Given the description of an element on the screen output the (x, y) to click on. 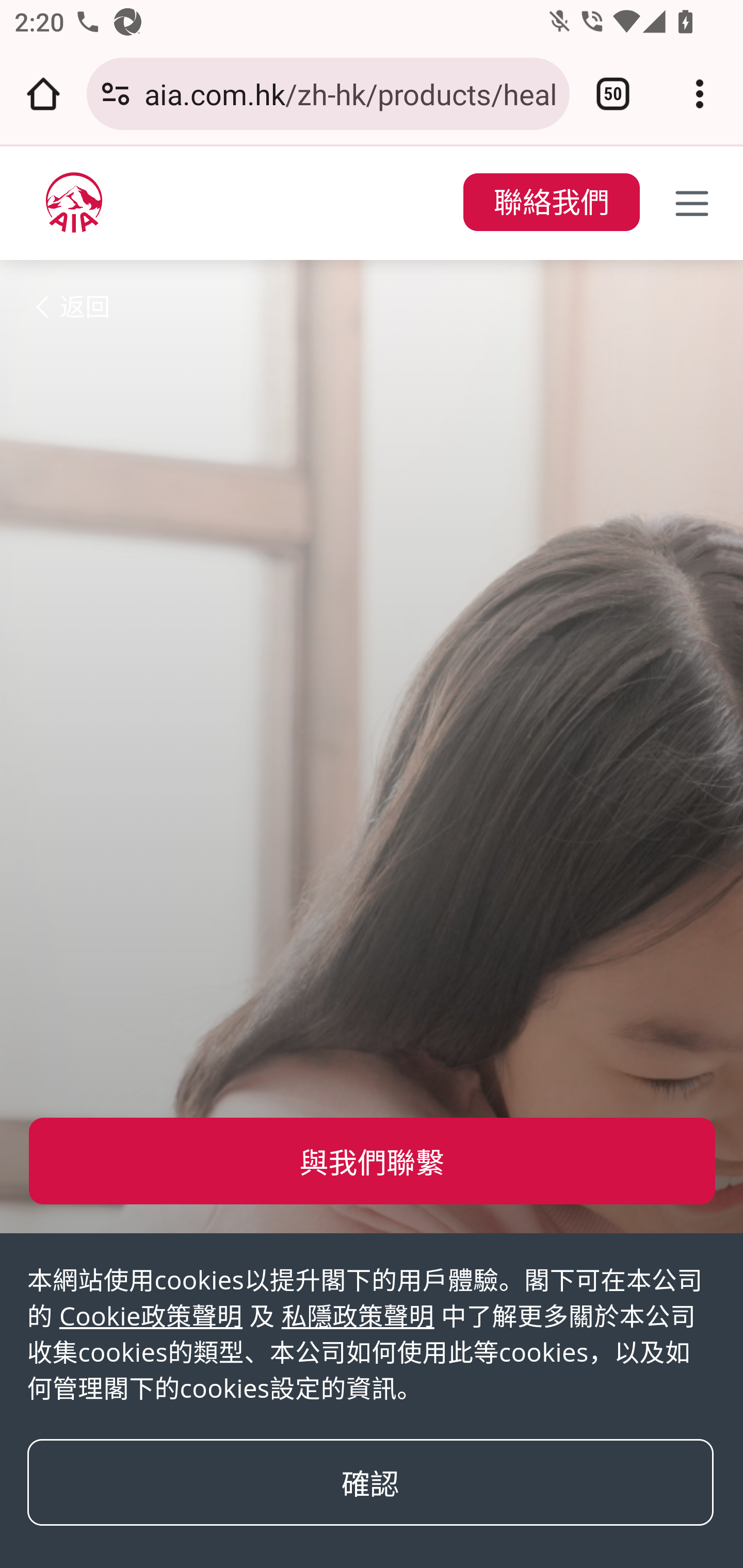
Open the home page (43, 93)
Connection is secure (115, 93)
Switch or close tabs (612, 93)
Customize and control Google Chrome (699, 93)
zh-hk (73, 202)
聯絡我們 (551, 203)
Toggle navigation (691, 203)
